Given the description of an element on the screen output the (x, y) to click on. 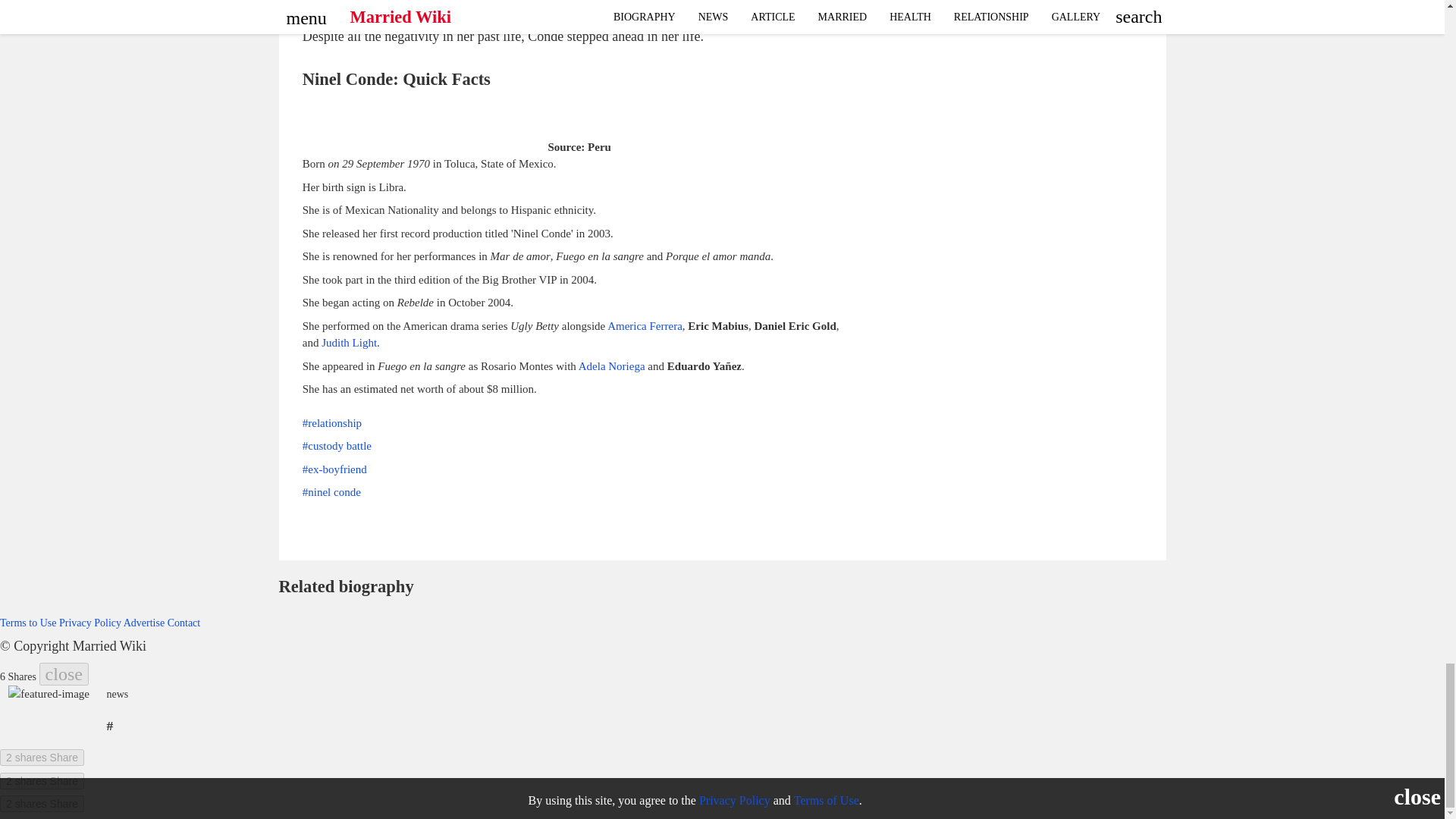
America Ferrera (644, 326)
